Given the description of an element on the screen output the (x, y) to click on. 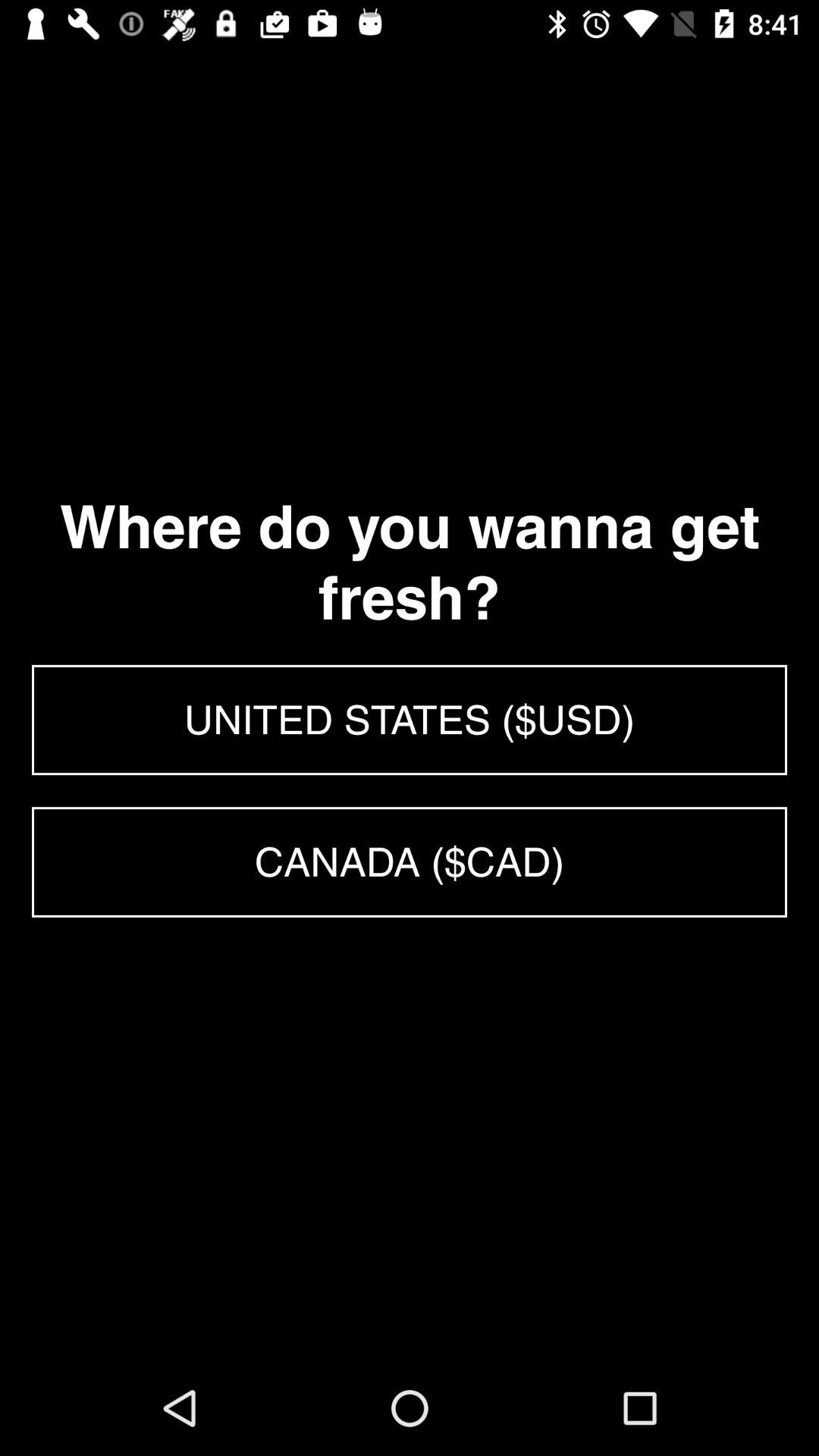
turn on icon above the canada ($cad) icon (409, 719)
